Given the description of an element on the screen output the (x, y) to click on. 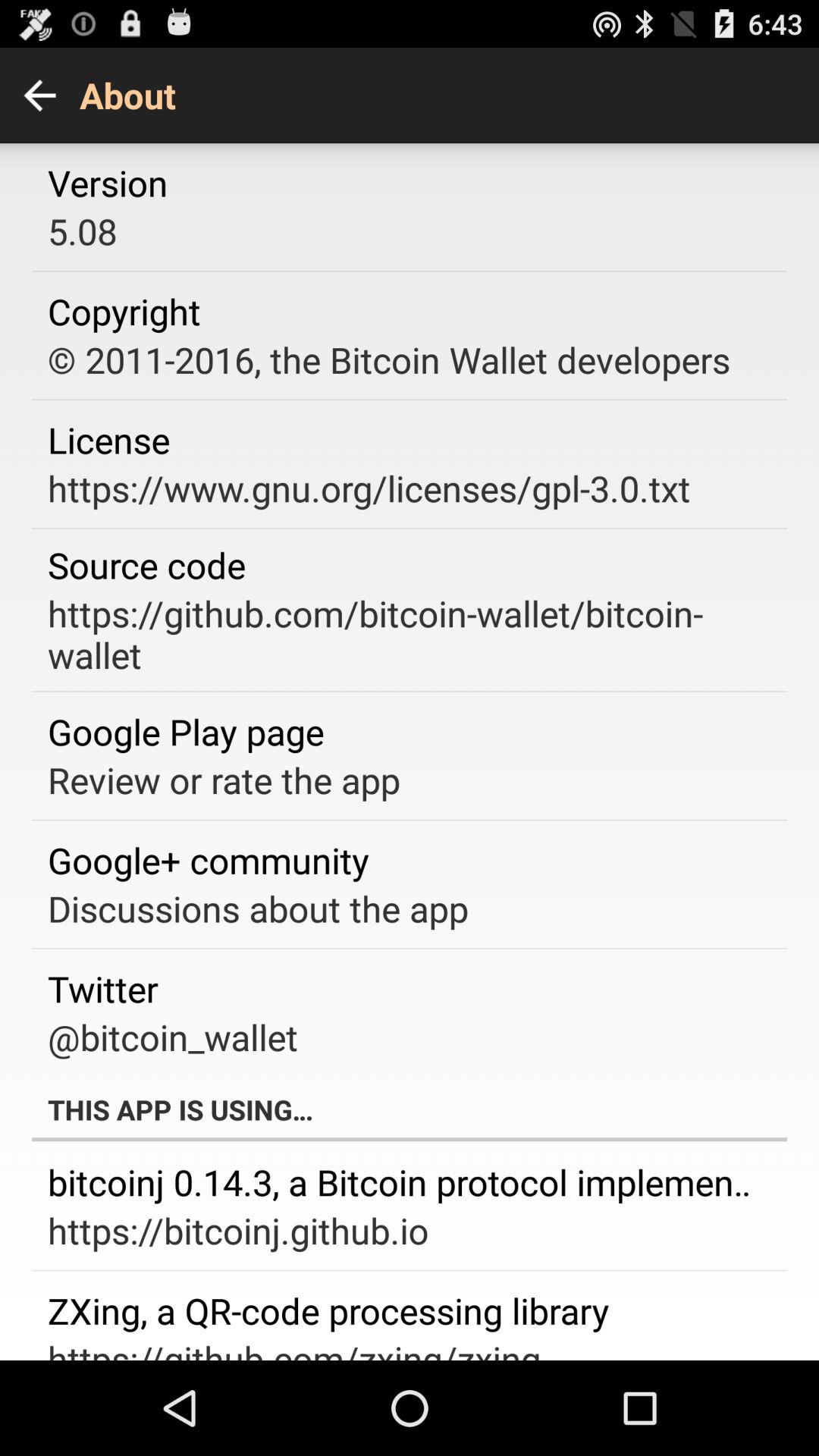
scroll until the twitter icon (102, 988)
